Given the description of an element on the screen output the (x, y) to click on. 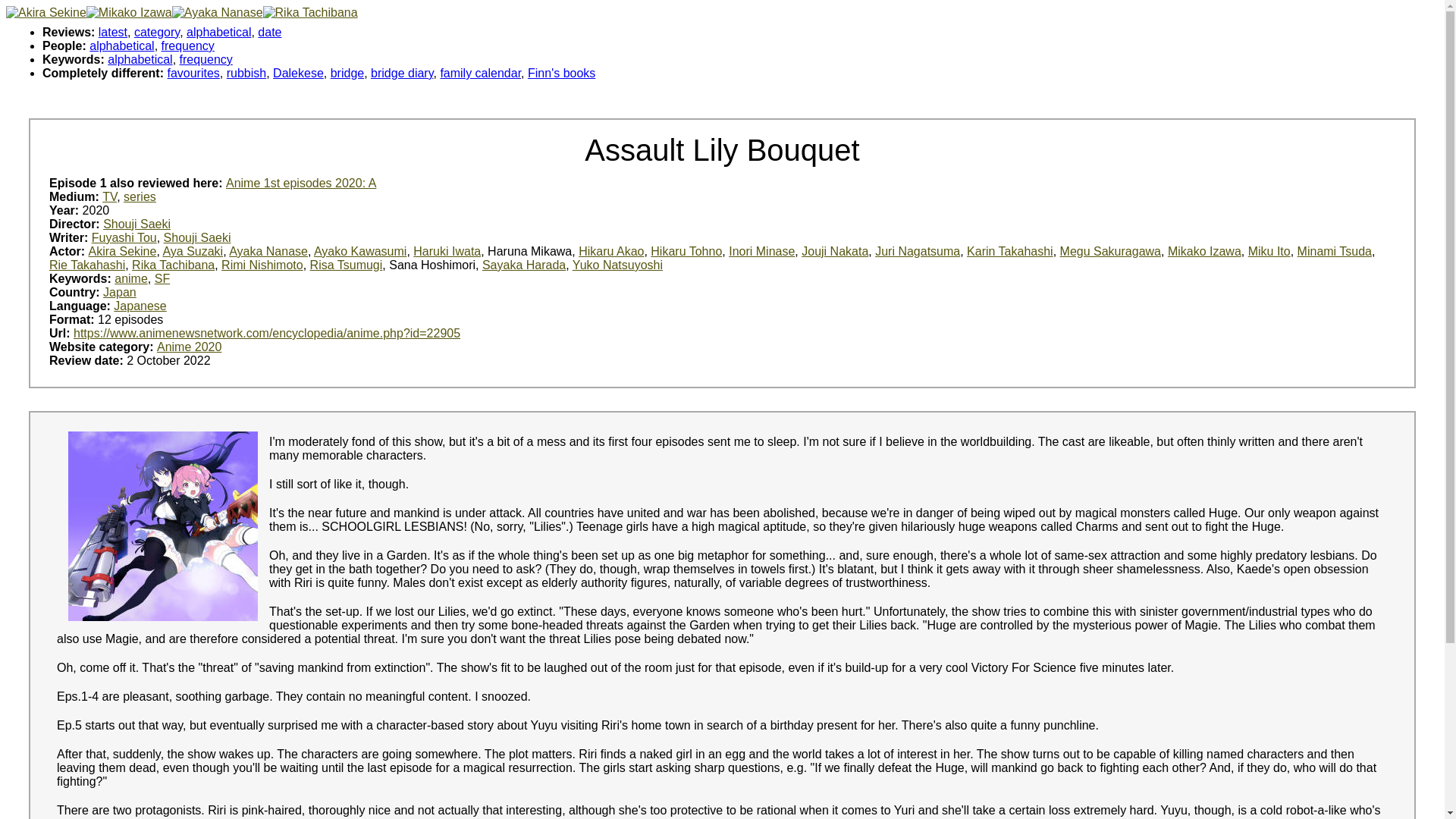
Aya Suzaki (191, 250)
Rie Takahashi (87, 264)
Risa Tsumugi (346, 264)
series (139, 196)
Akira Sekine (122, 250)
Rimi Nishimoto (261, 264)
Sayaka Harada (523, 264)
Ayaka Nanase (267, 250)
anime (131, 278)
TV (108, 196)
